Given the description of an element on the screen output the (x, y) to click on. 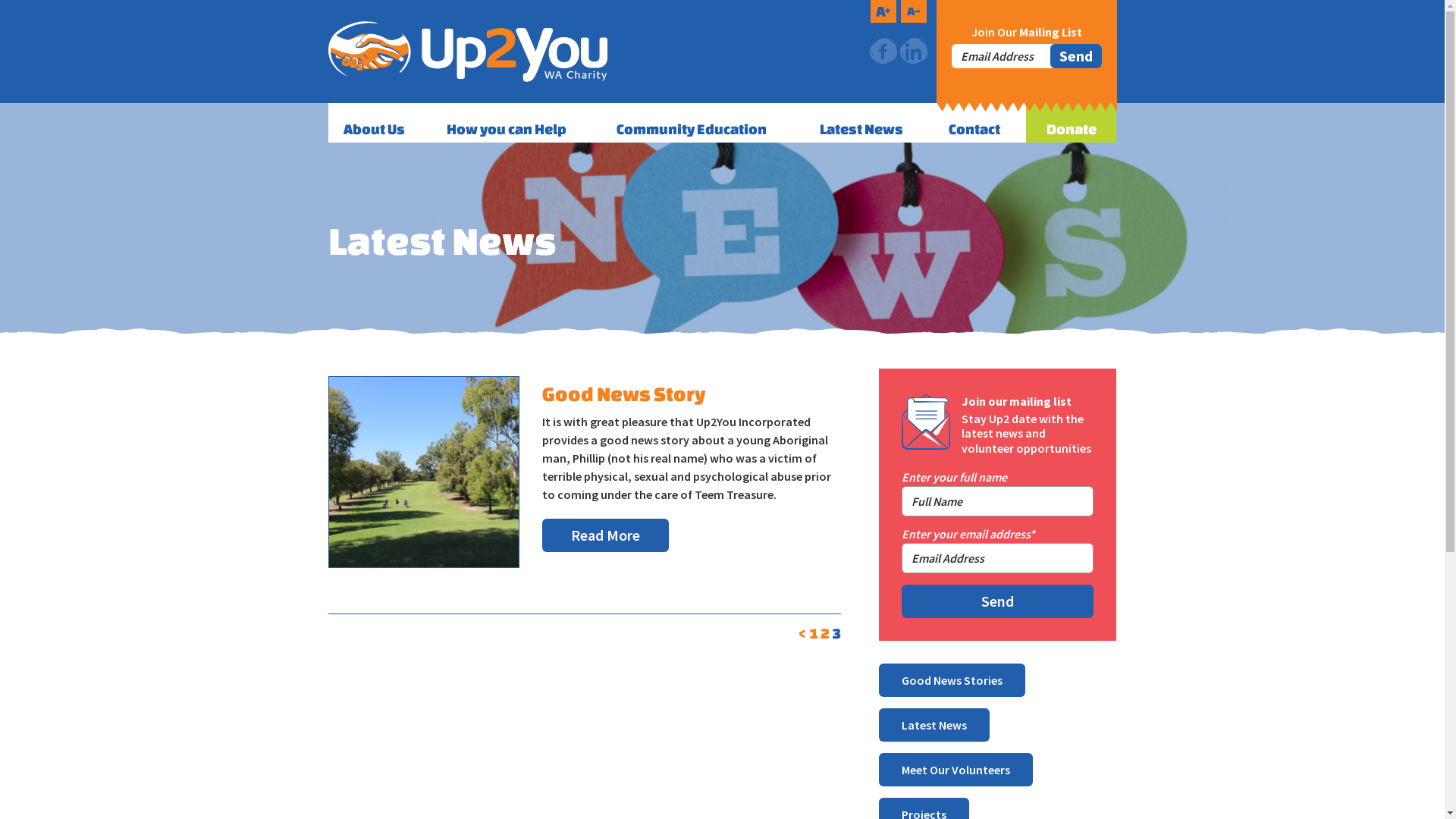
Good News Story Element type: text (624, 393)
Send Element type: text (997, 601)
1 Element type: text (813, 632)
How you can Help Element type: text (516, 122)
About Us Element type: text (379, 122)
Latest News Element type: text (933, 724)
< Element type: text (801, 632)
Donate Element type: text (1071, 122)
Send Element type: text (1075, 55)
Meet Our Volunteers Element type: text (955, 769)
Contact Element type: text (979, 122)
Read More Element type: text (605, 535)
Community Education Element type: text (703, 122)
Latest News Element type: text (868, 122)
Good News Stories Element type: text (951, 679)
2 Element type: text (824, 632)
